Given the description of an element on the screen output the (x, y) to click on. 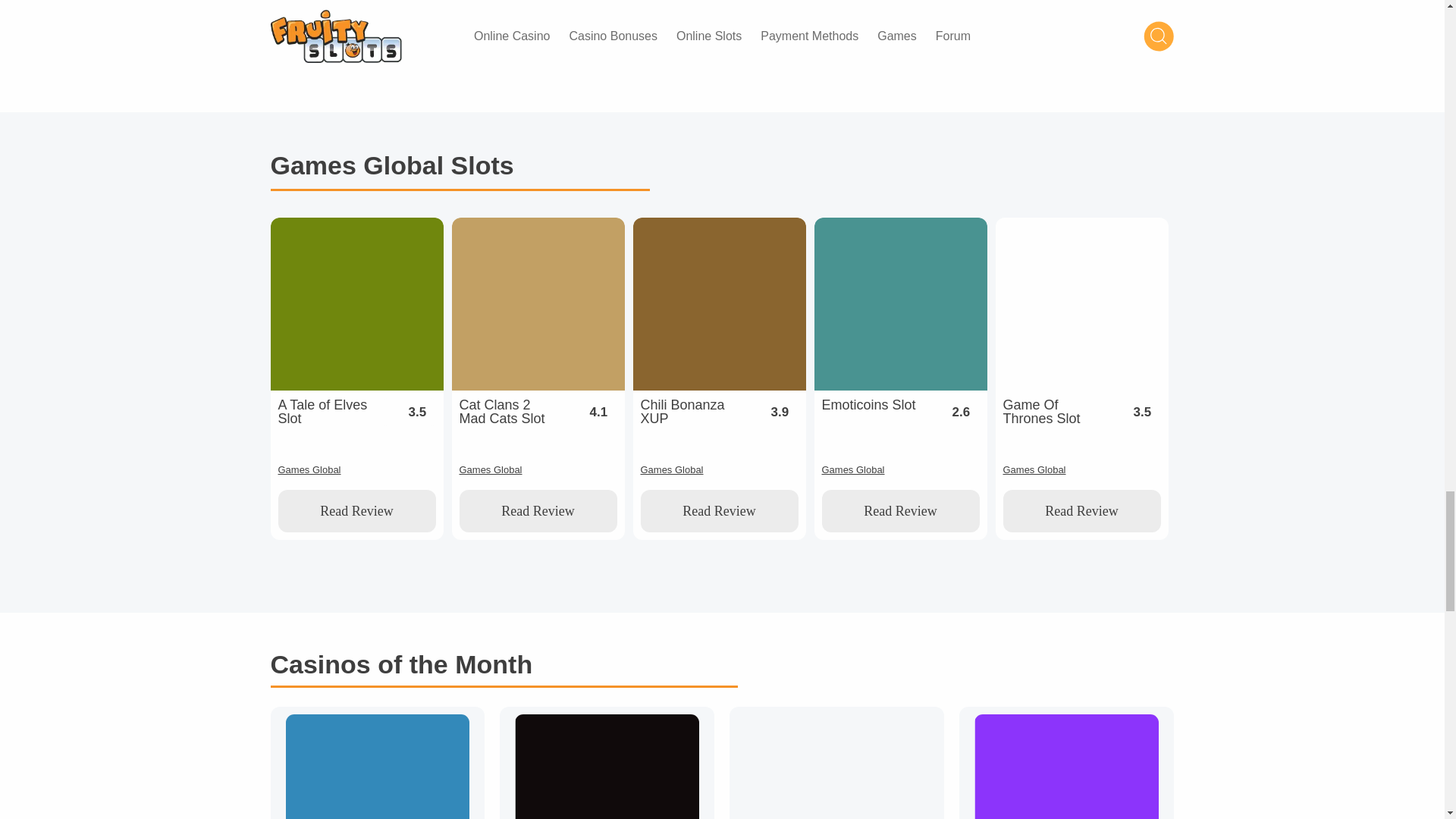
Play Now (843, 4)
Games Global (504, 18)
BeGambleAware (872, 19)
